Given the description of an element on the screen output the (x, y) to click on. 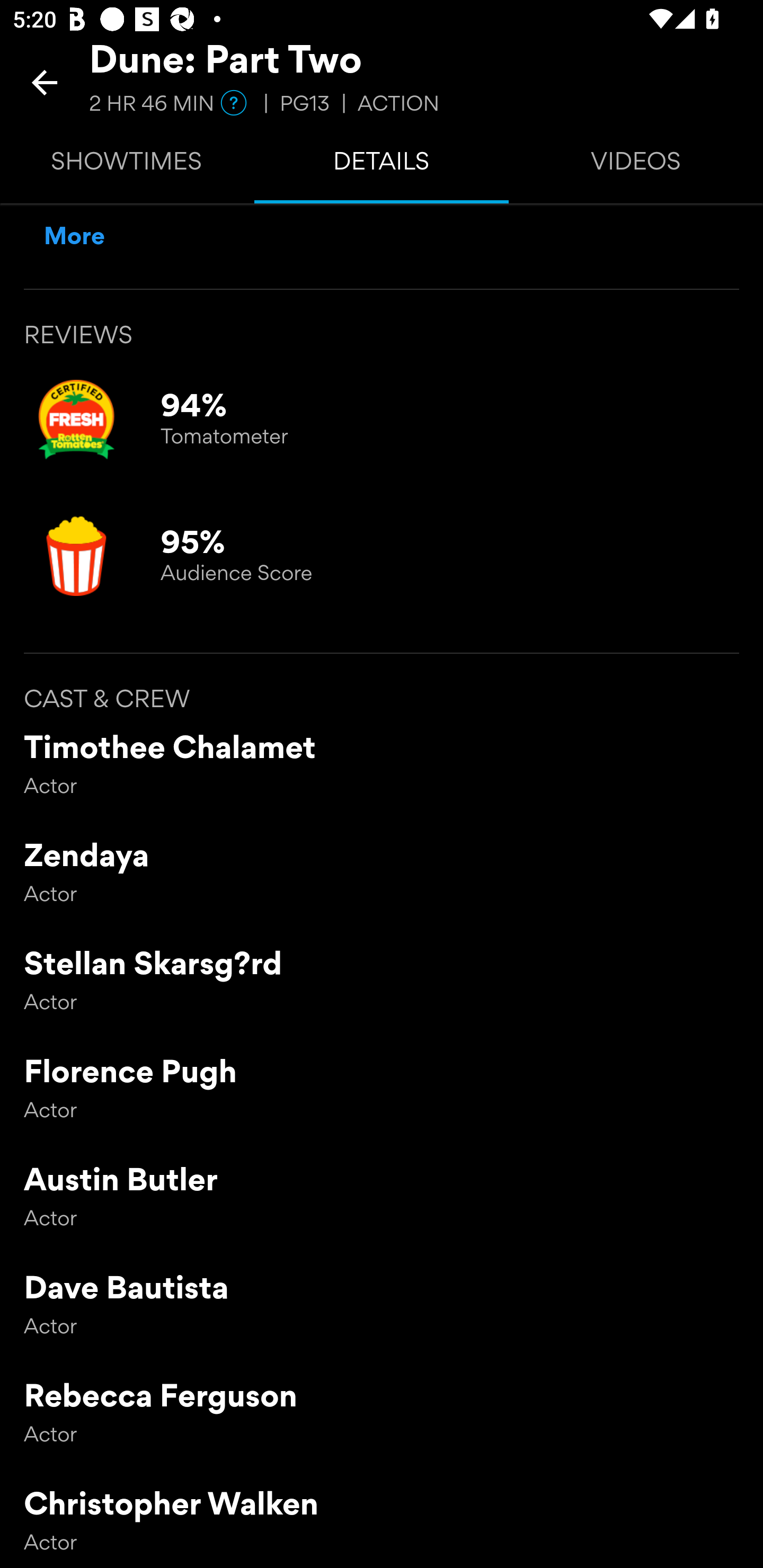
Back (44, 82)
SHOWTIMES
Tab 1 of 3 (127, 165)
DETAILS
Tab 2 of 3 (381, 165)
VIDEOS
Tab 3 of 3 (635, 165)
Open Rotten Tomatoes Website (75, 418)
Open Rotten Tomatoes Website (75, 555)
